Given the description of an element on the screen output the (x, y) to click on. 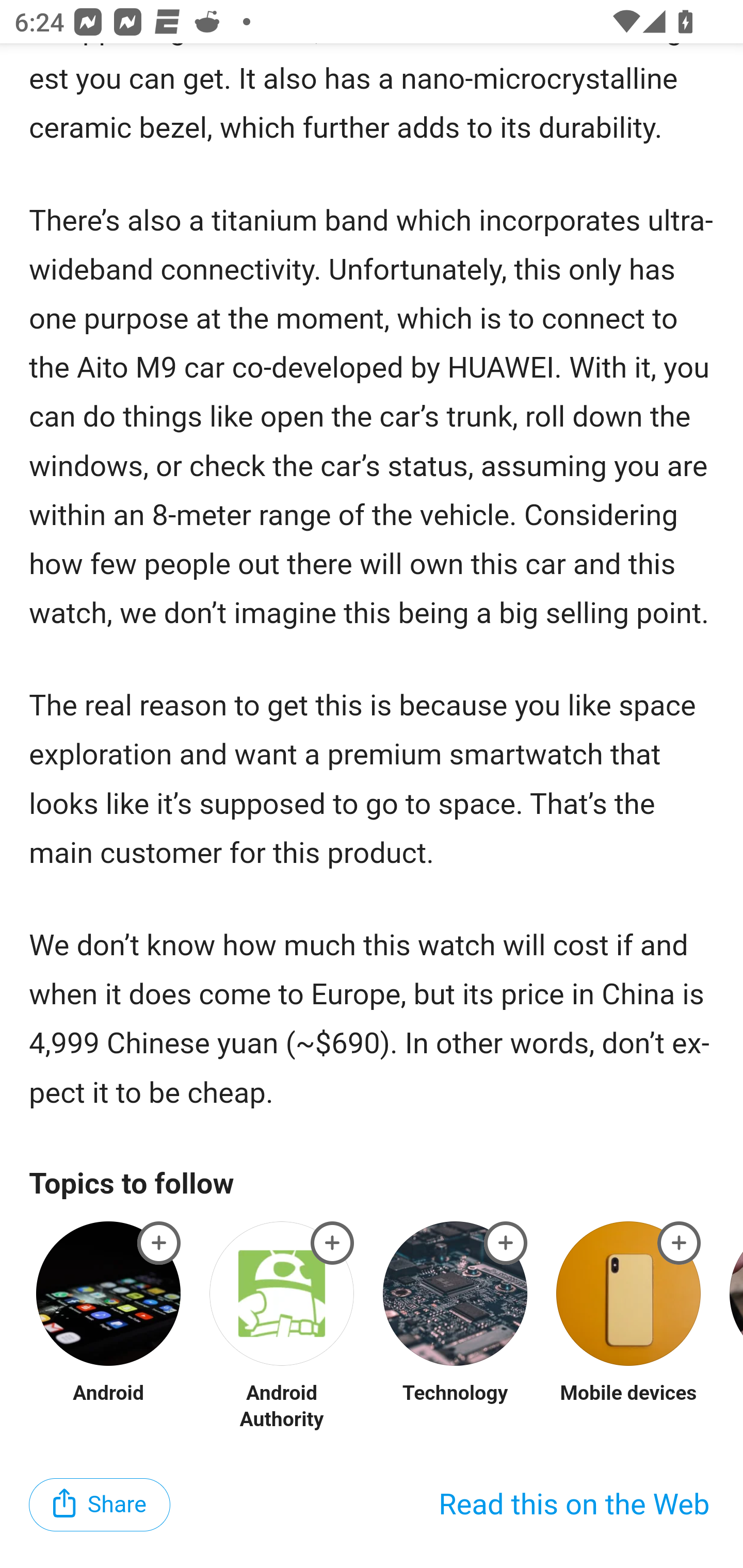
huawei-watch-4-pro-space-exploration-3437876 (159, 1242)
huawei-watch-4-pro-space-exploration-3437876 (332, 1242)
huawei-watch-4-pro-space-exploration-3437876 (505, 1242)
huawei-watch-4-pro-space-exploration-3437876 (679, 1242)
Android (108, 1393)
Android Authority (282, 1406)
Technology (454, 1393)
Mobile devices (628, 1393)
Read this on the Web (573, 1504)
Share (99, 1504)
